Given the description of an element on the screen output the (x, y) to click on. 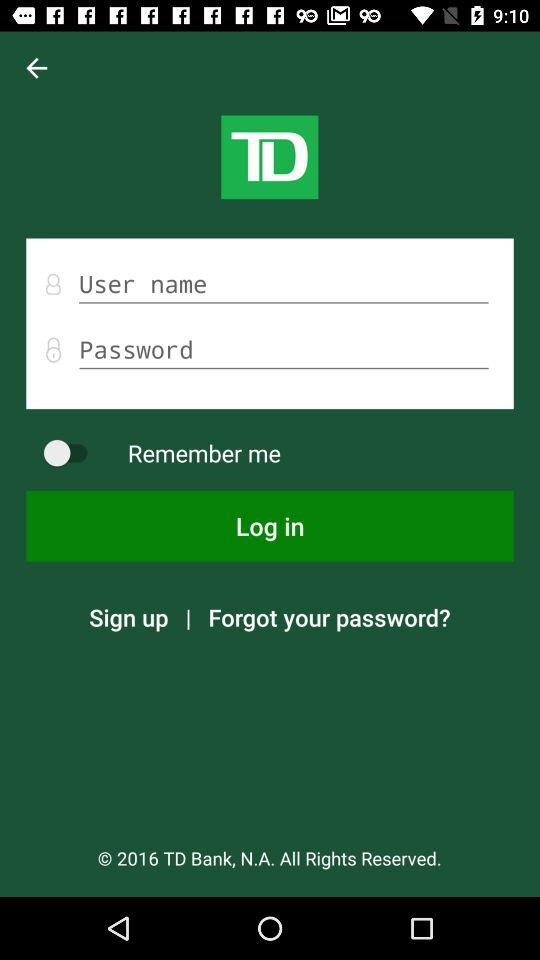
select the sign up item (128, 617)
